Given the description of an element on the screen output the (x, y) to click on. 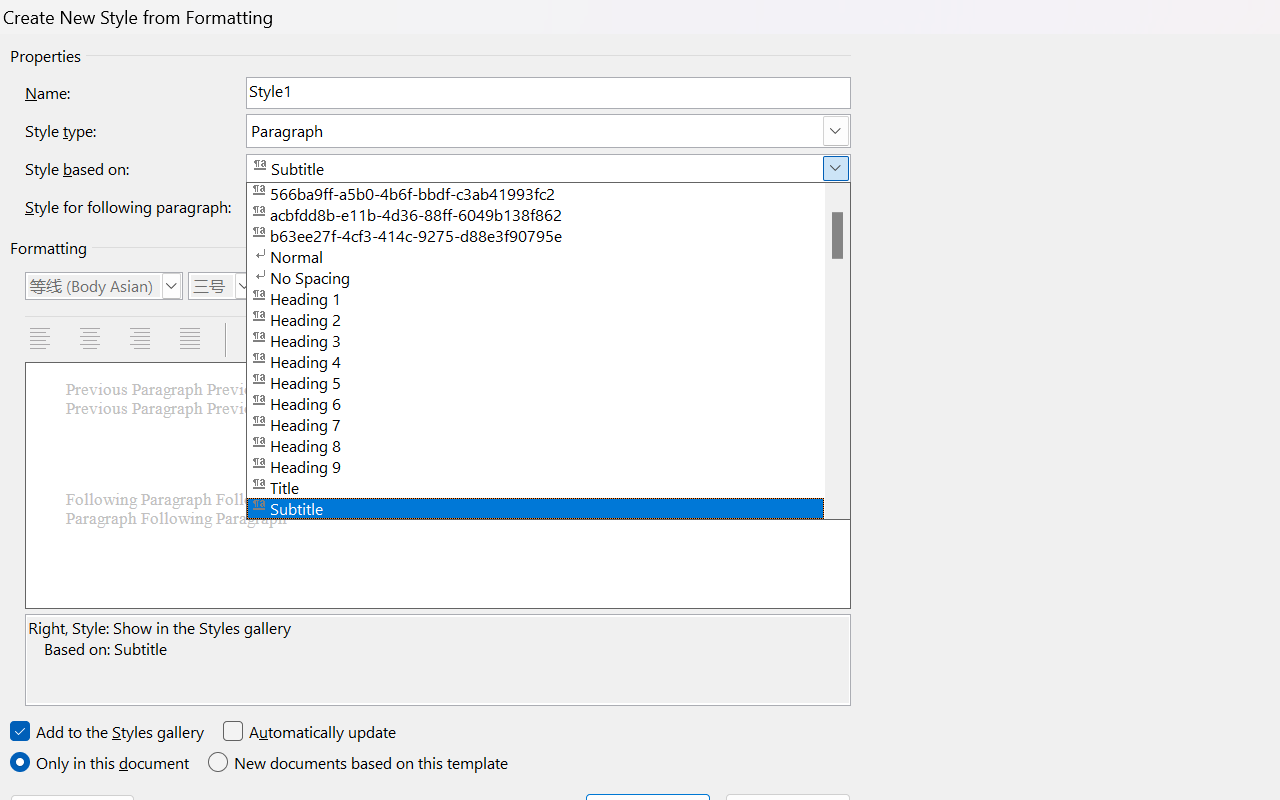
Heading 3 (548, 339)
Center (92, 339)
Style for following paragraph: (548, 206)
1.5 Spacing (308, 339)
Justify (192, 339)
Single Spacing (258, 339)
MSO Generic Control Container (104, 286)
Heading 8 (548, 444)
Automatically update (310, 731)
Add to the Styles gallery (108, 731)
Style type: (548, 130)
Name: (548, 92)
Heading 7 (548, 422)
Heading 1 (548, 297)
acbfdd8b-e11b-4d36-88ff-6049b138f862 (548, 213)
